Given the description of an element on the screen output the (x, y) to click on. 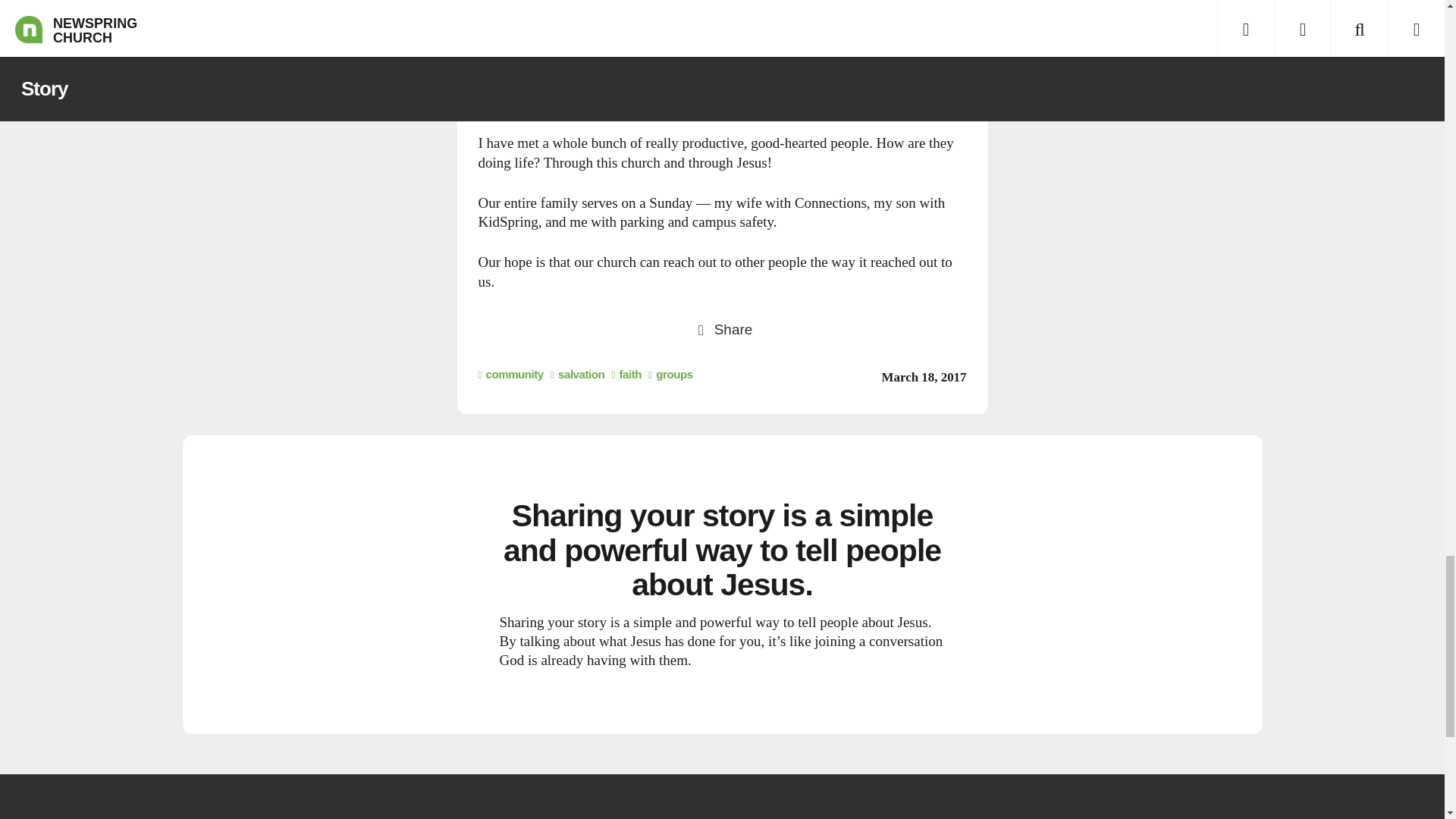
salvation (577, 373)
faith (625, 373)
community (510, 373)
Share (721, 328)
groups (670, 373)
